Given the description of an element on the screen output the (x, y) to click on. 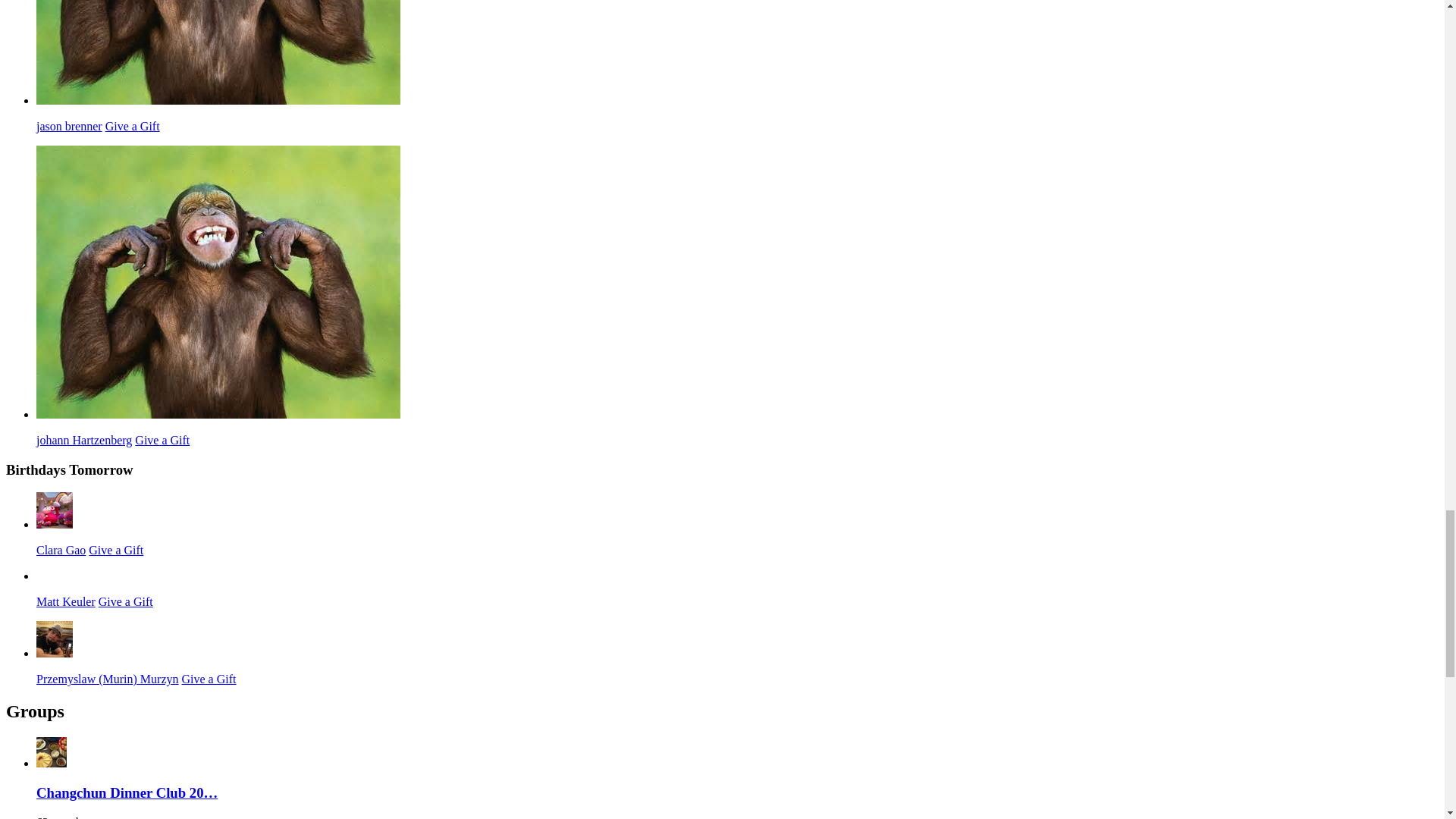
jason brenner (218, 100)
